Given the description of an element on the screen output the (x, y) to click on. 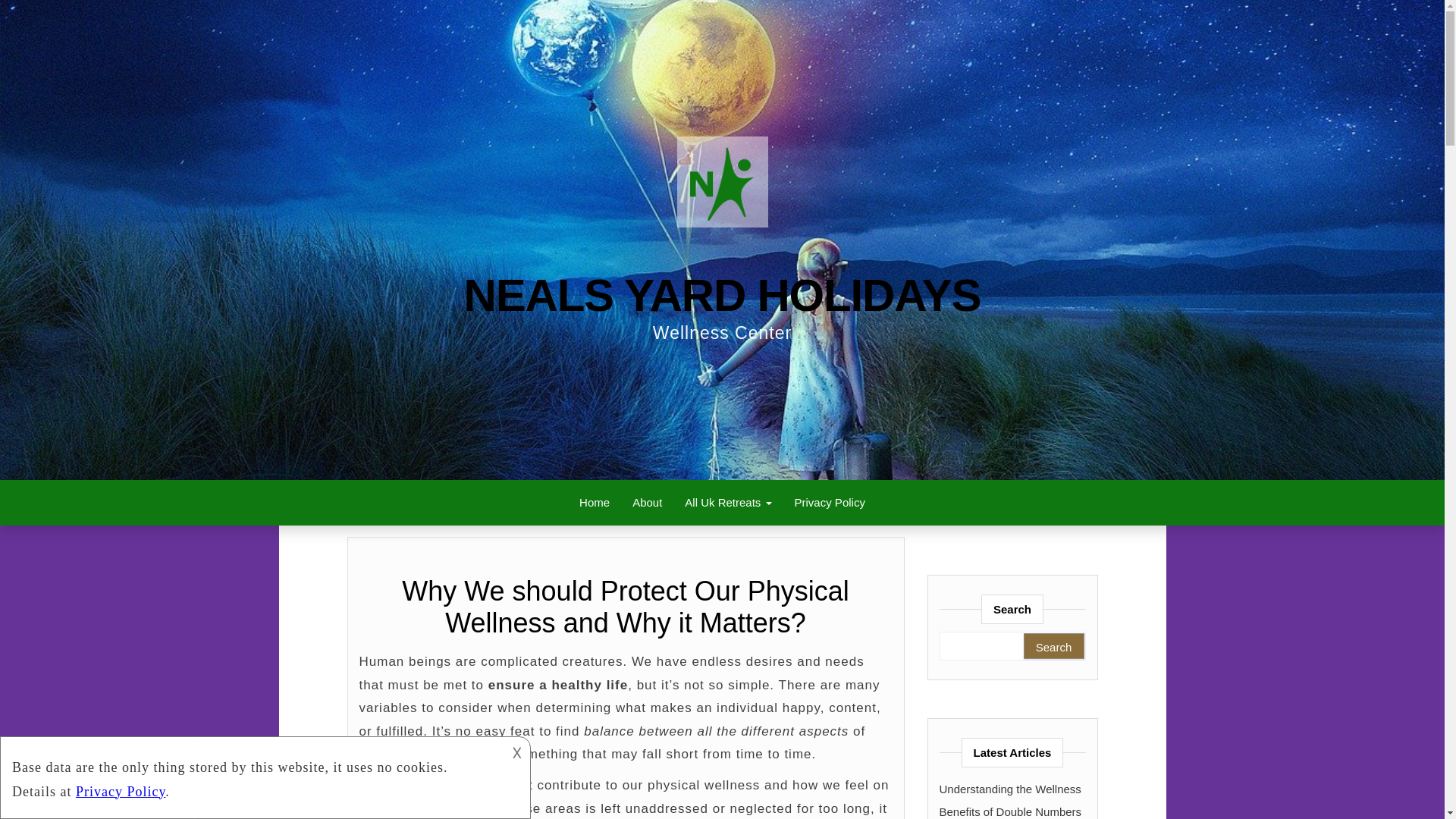
Search (1053, 646)
Privacy Policy (829, 502)
Understanding the Wellness Benefits of Double Numbers (1010, 800)
Search (1053, 646)
Privacy Policy (829, 502)
NEALS YARD HOLIDAYS (722, 295)
Home (594, 502)
All Uk Retreats (727, 502)
All Uk Retreats (727, 502)
Home (594, 502)
